Given the description of an element on the screen output the (x, y) to click on. 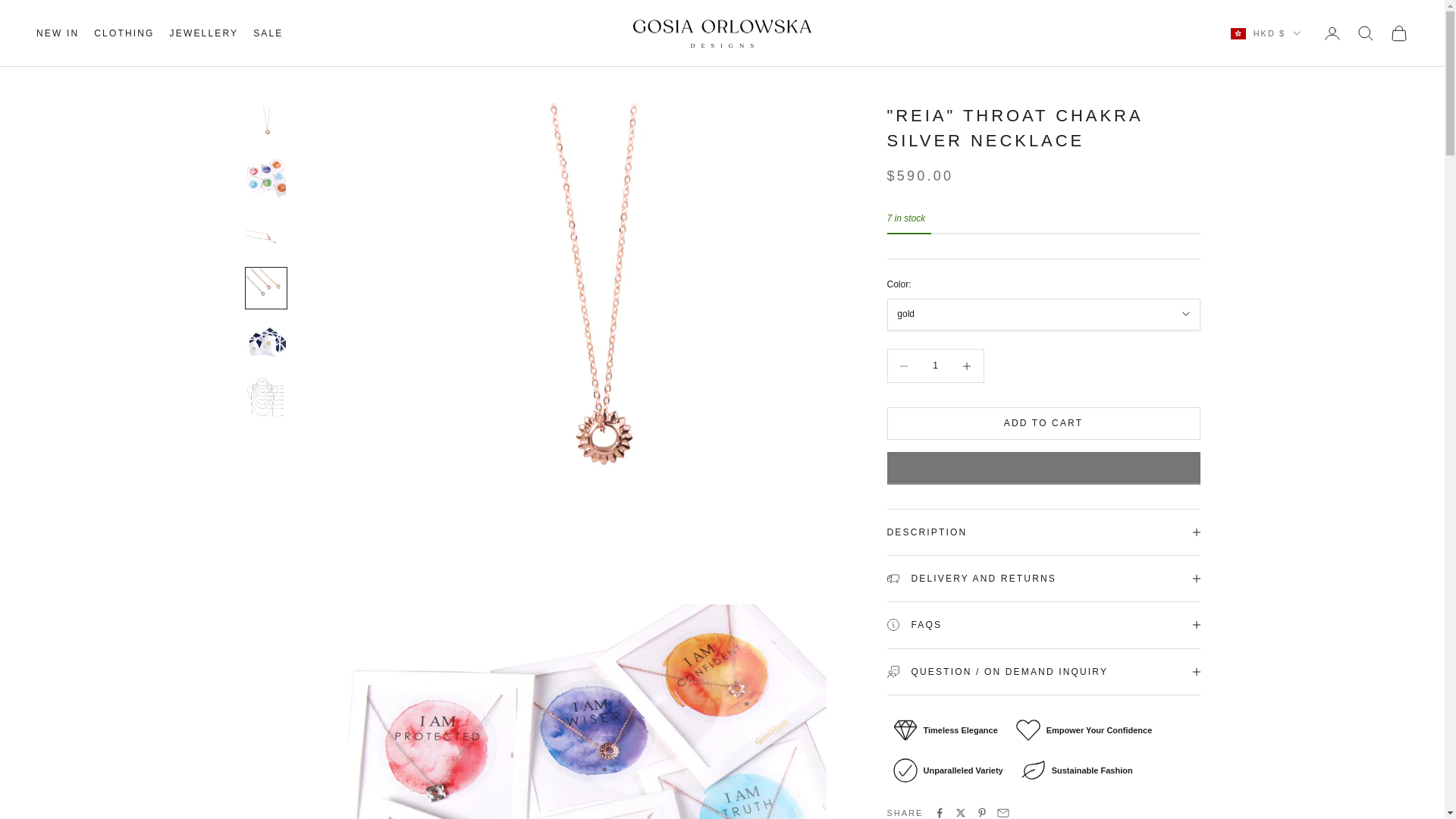
1 (935, 365)
gosia orlowska (721, 33)
